Given the description of an element on the screen output the (x, y) to click on. 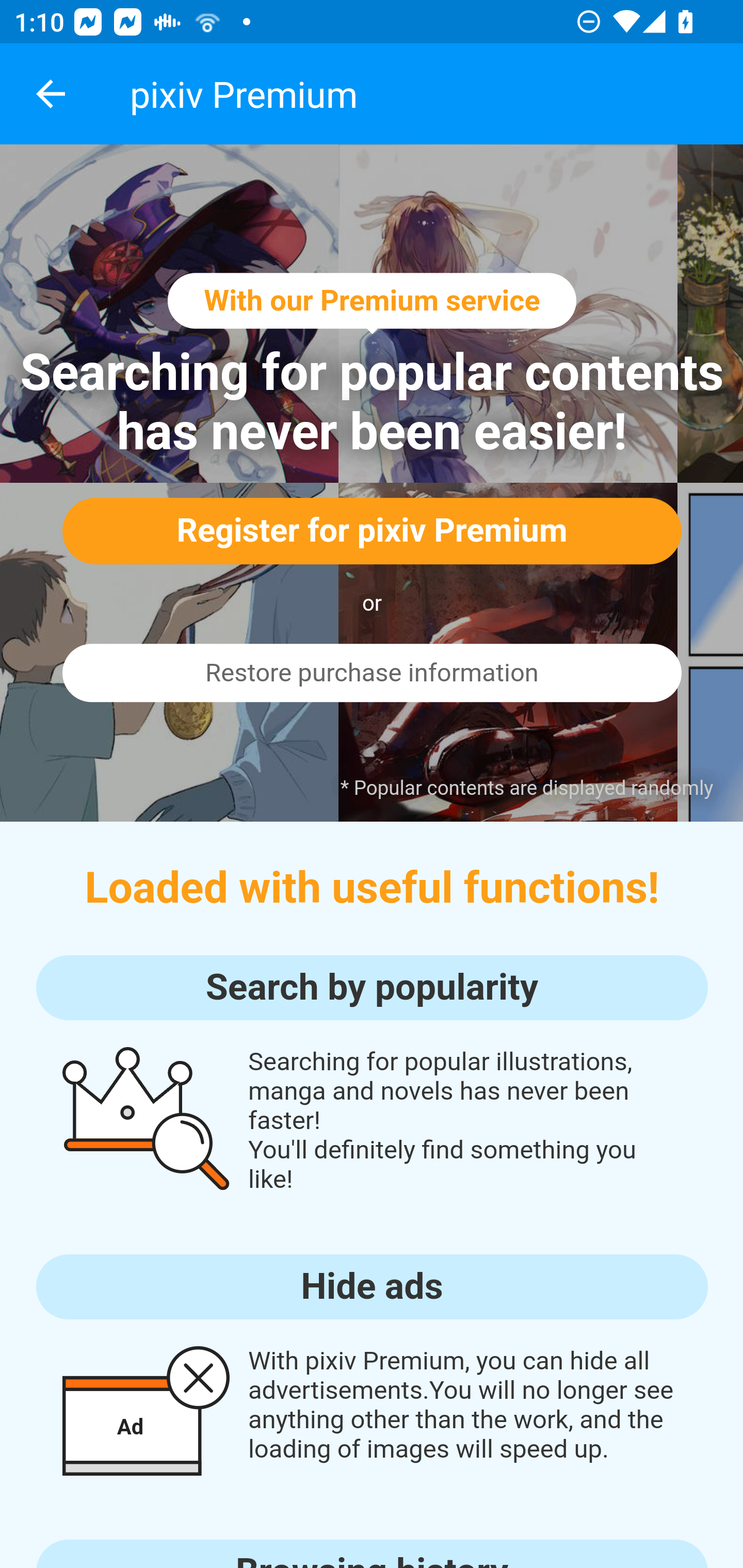
Navigate up (50, 93)
Register for pixiv Premium (371, 529)
Restore purchase information (371, 672)
